Given the description of an element on the screen output the (x, y) to click on. 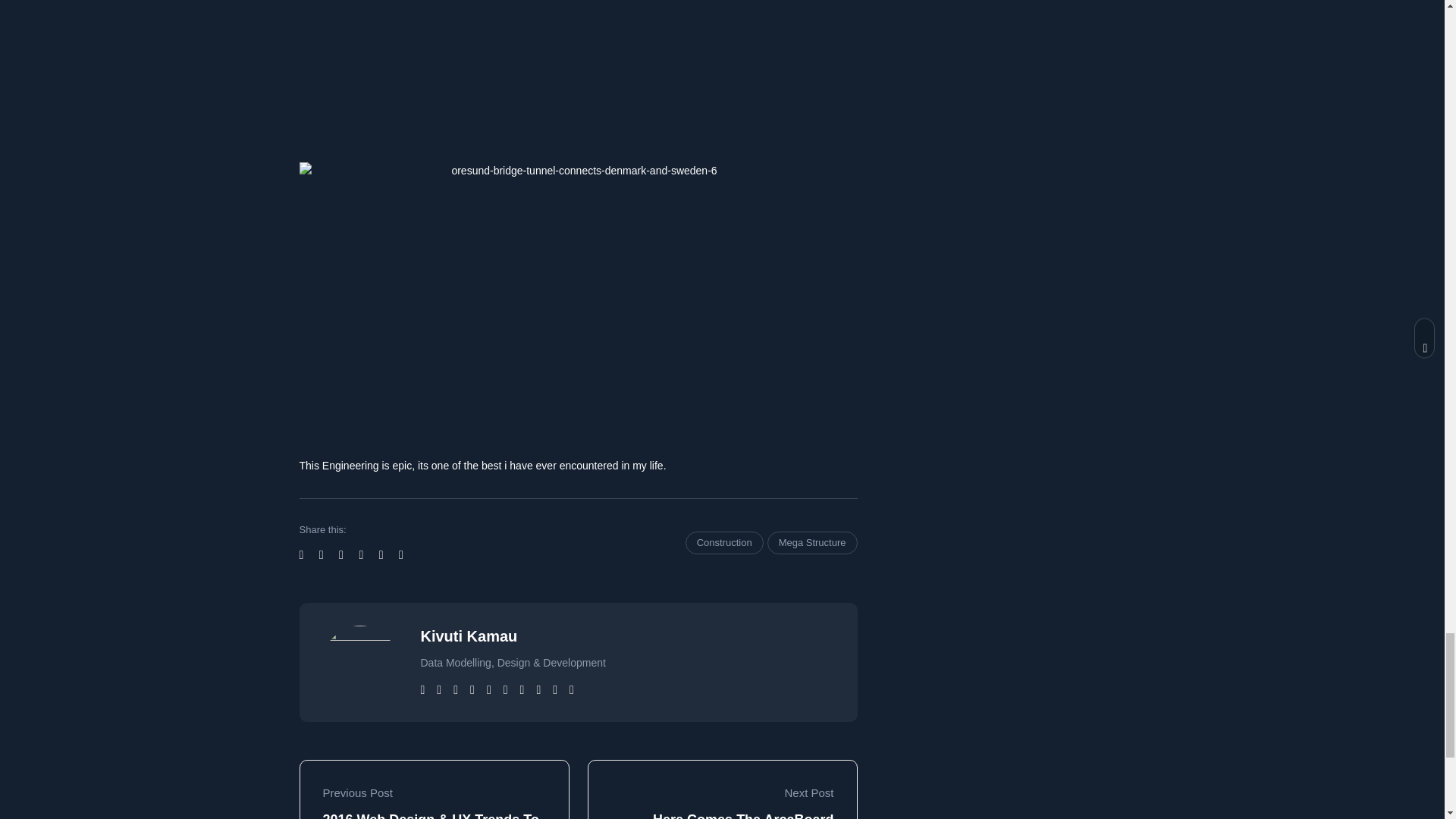
Mega Structure (812, 542)
Construction (723, 542)
Kivuti Kamau (468, 636)
